Given the description of an element on the screen output the (x, y) to click on. 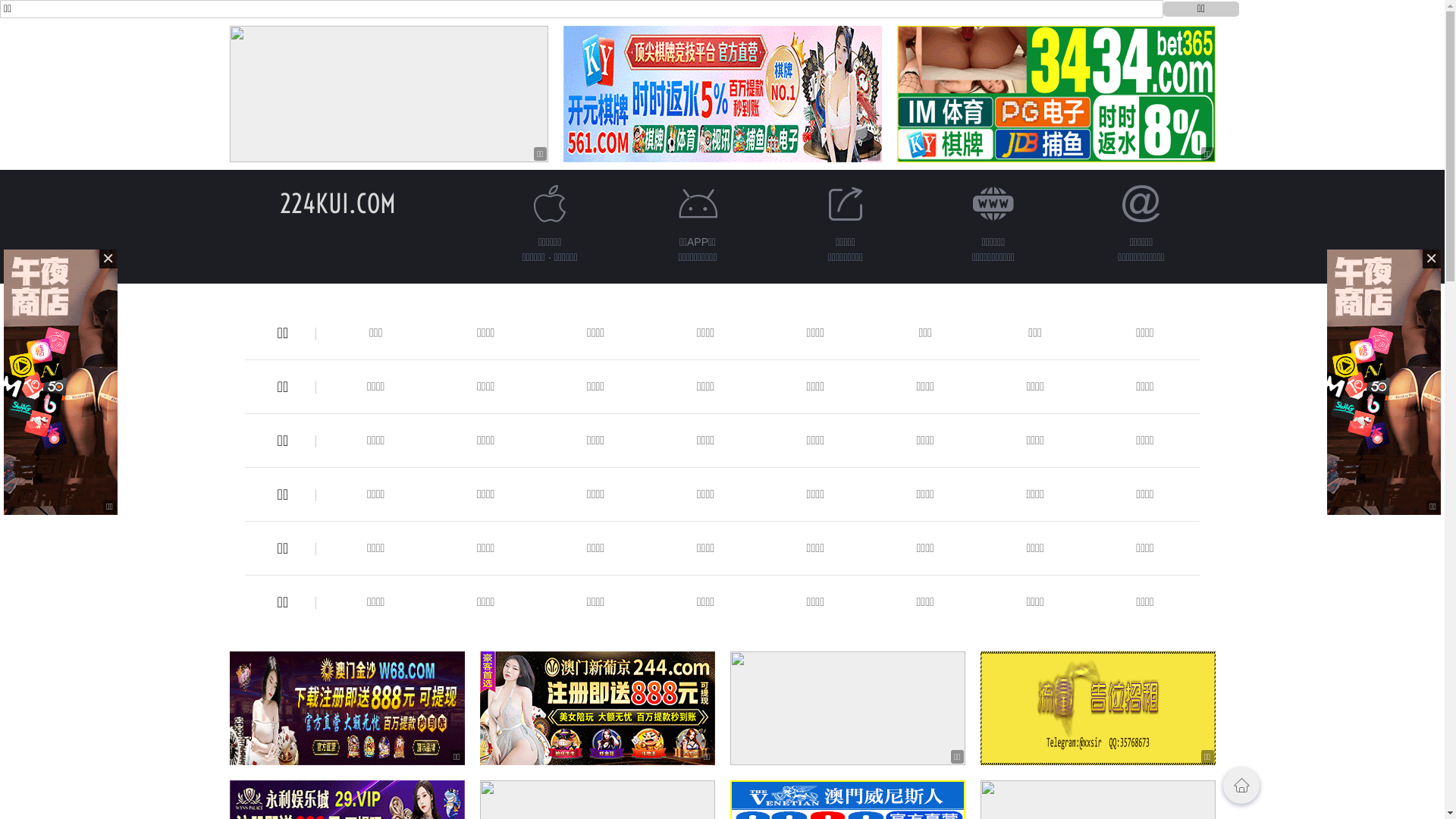
224KUI.COM Element type: text (337, 203)
